Given the description of an element on the screen output the (x, y) to click on. 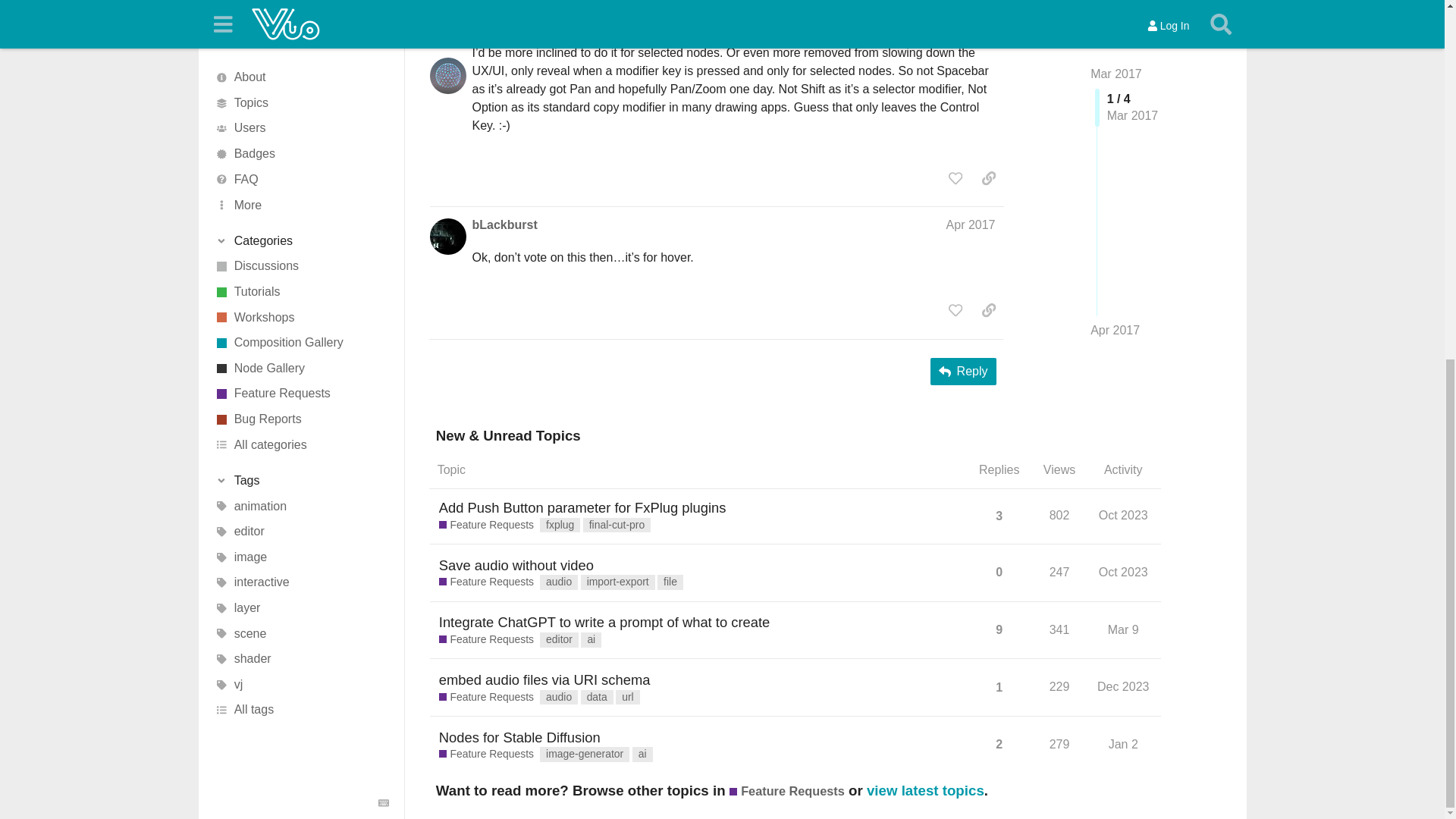
vj (301, 47)
All tags (301, 73)
scene (301, 4)
shader (301, 22)
